Given the description of an element on the screen output the (x, y) to click on. 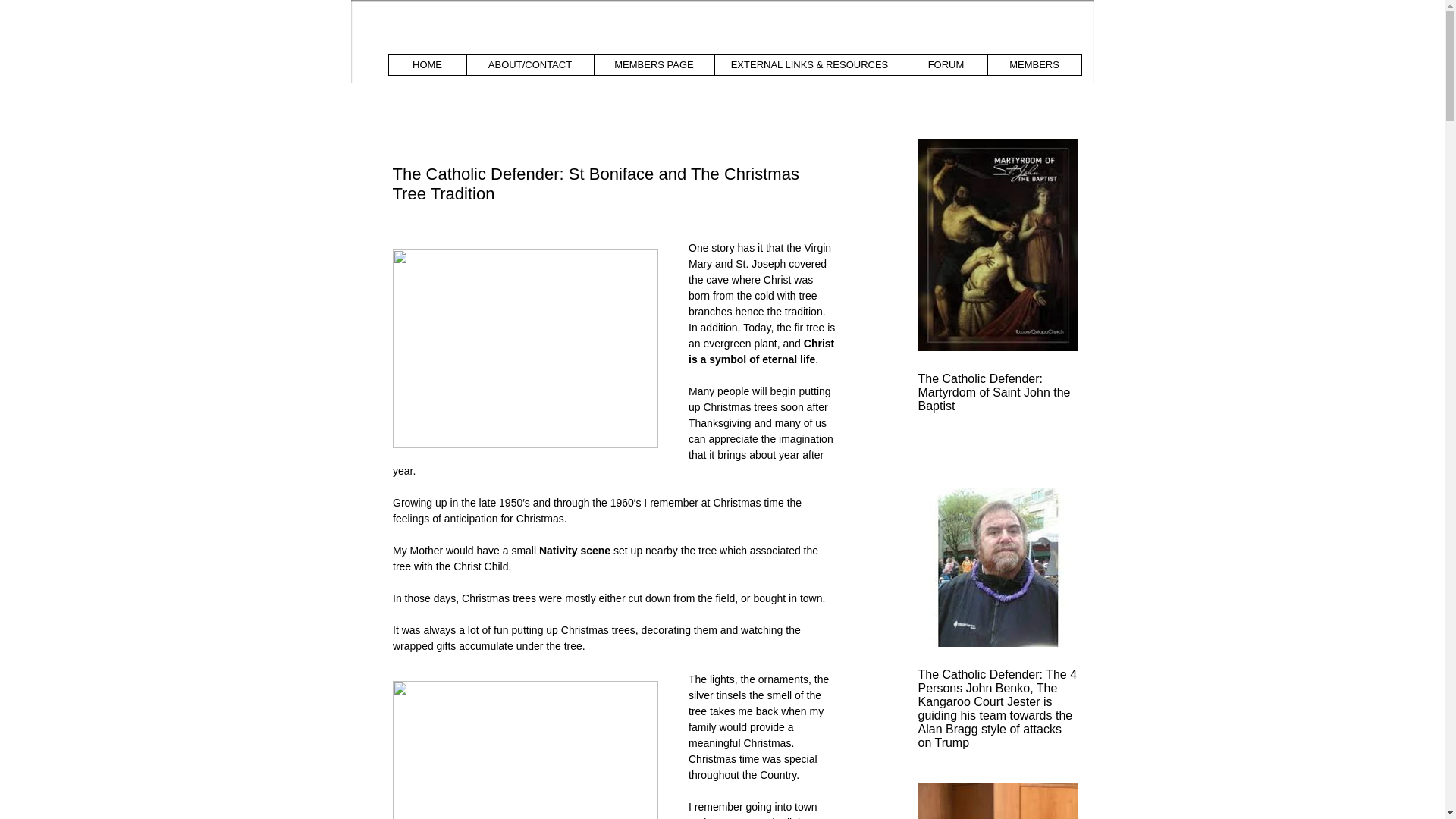
The Catholic Defender: Martyrdom of Saint John the Baptist (997, 392)
MEMBERS PAGE (652, 64)
MEMBERS (1034, 64)
FORUM (945, 64)
HOME (426, 64)
